Given the description of an element on the screen output the (x, y) to click on. 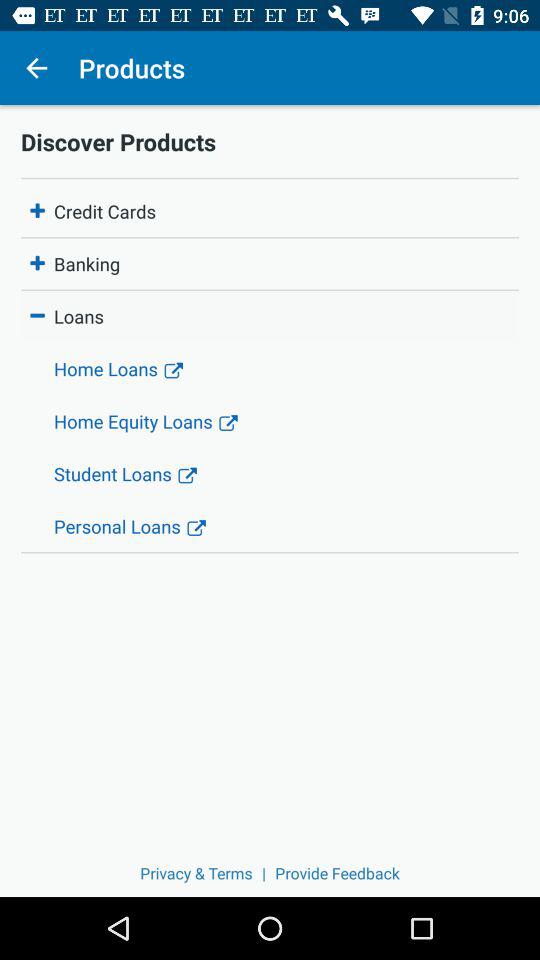
turn off discover products (270, 141)
